Given the description of an element on the screen output the (x, y) to click on. 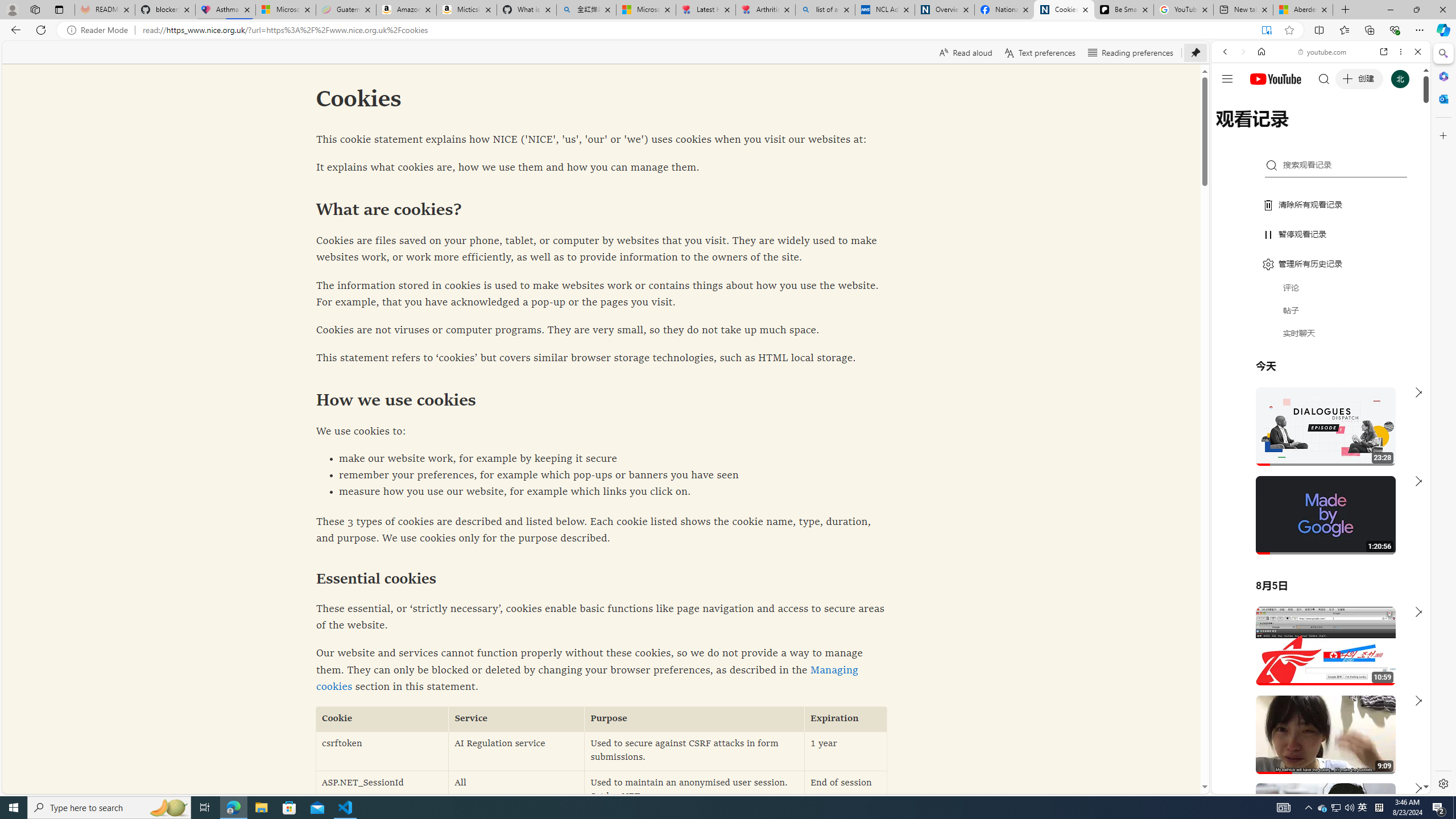
Cookie (381, 718)
All (516, 790)
1 year (844, 751)
Purpose (694, 718)
